Given the description of an element on the screen output the (x, y) to click on. 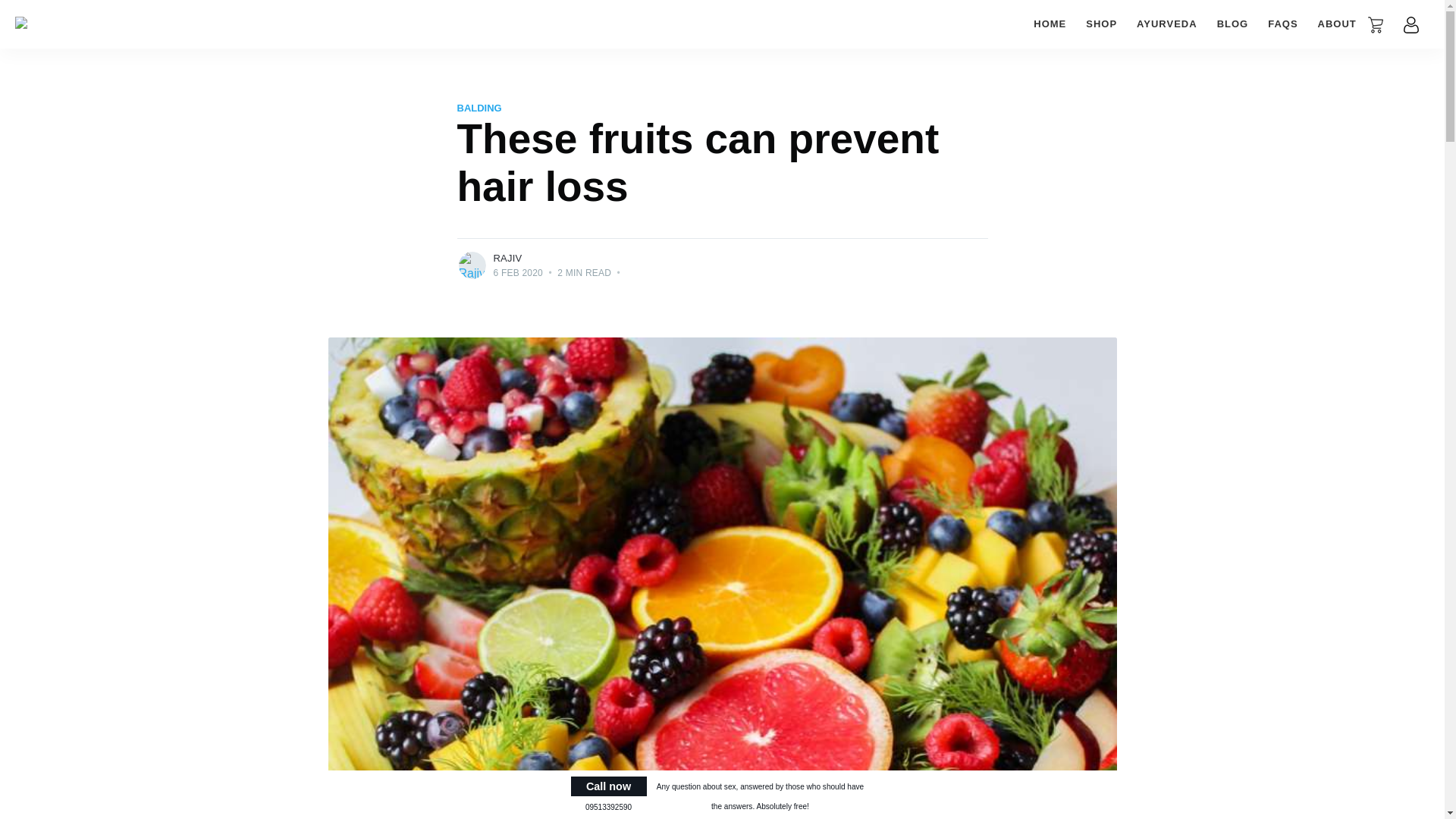
Profile (1410, 24)
BLOG (1233, 24)
BALDING (478, 108)
RAJIV (507, 257)
HOME (1049, 24)
AYURVEDA (1166, 24)
FAQS (1282, 24)
SHOP (1101, 24)
Cart (1375, 24)
ABOUT (1336, 24)
